Given the description of an element on the screen output the (x, y) to click on. 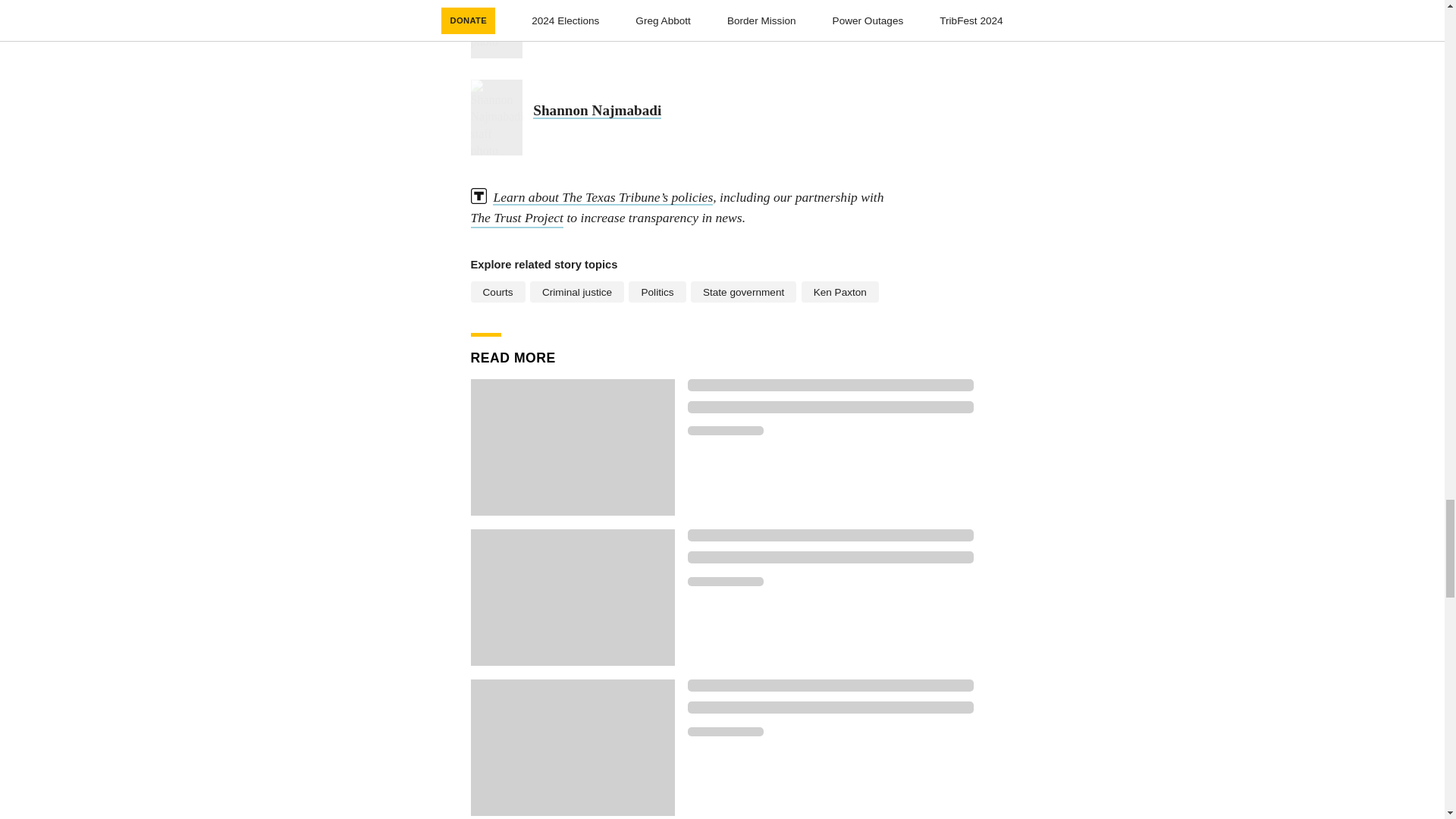
Loading indicator (724, 429)
Loading indicator (830, 557)
Loading indicator (830, 707)
Loading indicator (830, 385)
Loading indicator (830, 685)
Loading indicator (724, 731)
Loading indicator (830, 535)
Loading indicator (724, 580)
Loading indicator (830, 407)
